Given the description of an element on the screen output the (x, y) to click on. 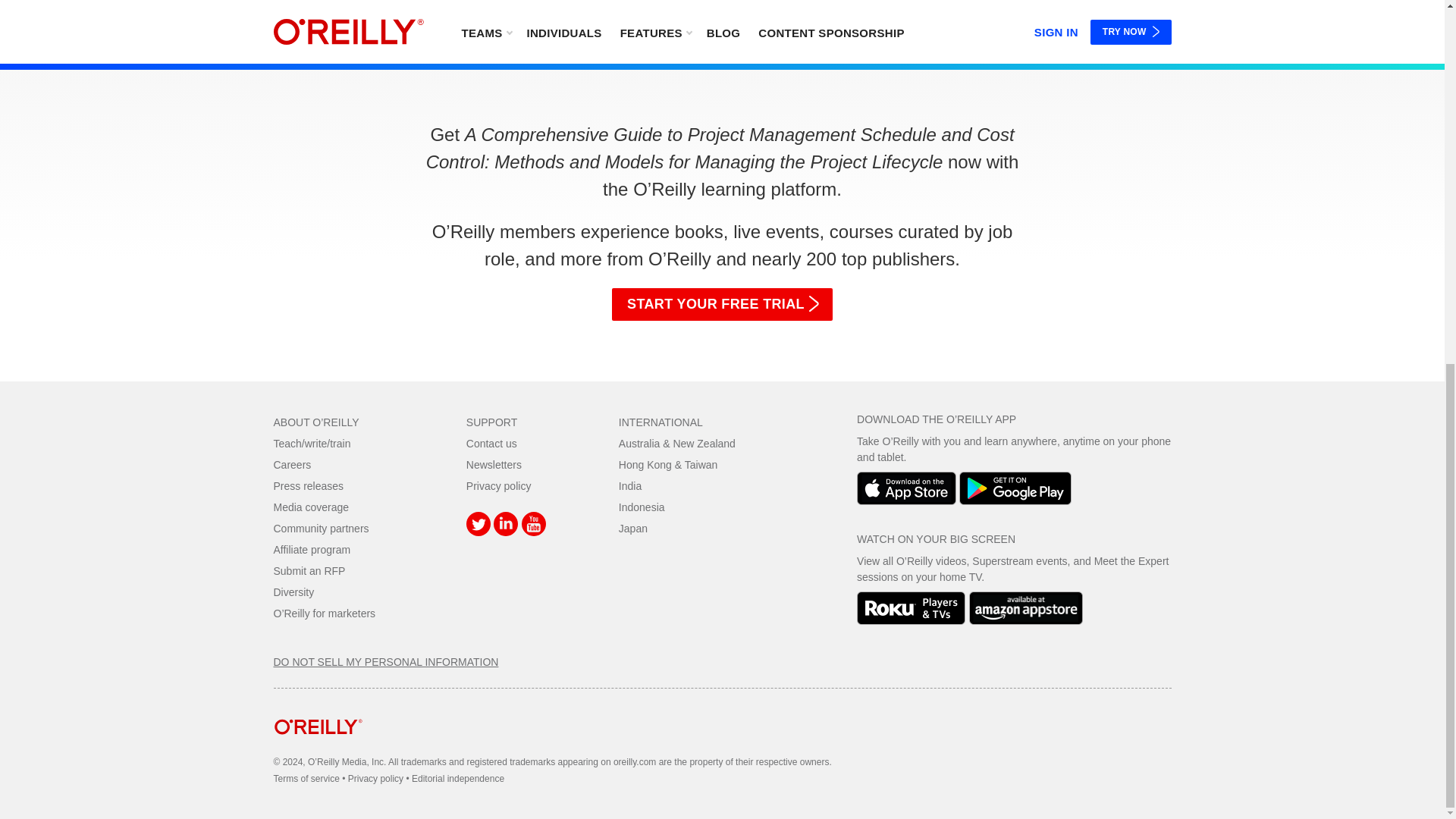
SUPPORT (490, 422)
Community partners (320, 528)
Newsletters (493, 464)
Privacy policy (498, 485)
Careers (292, 464)
home page (317, 745)
Media coverage (311, 507)
Press releases (308, 485)
Affiliate program (311, 549)
Submit an RFP (309, 571)
Diversity (293, 592)
Contact us (490, 443)
START YOUR FREE TRIAL (721, 304)
